Given the description of an element on the screen output the (x, y) to click on. 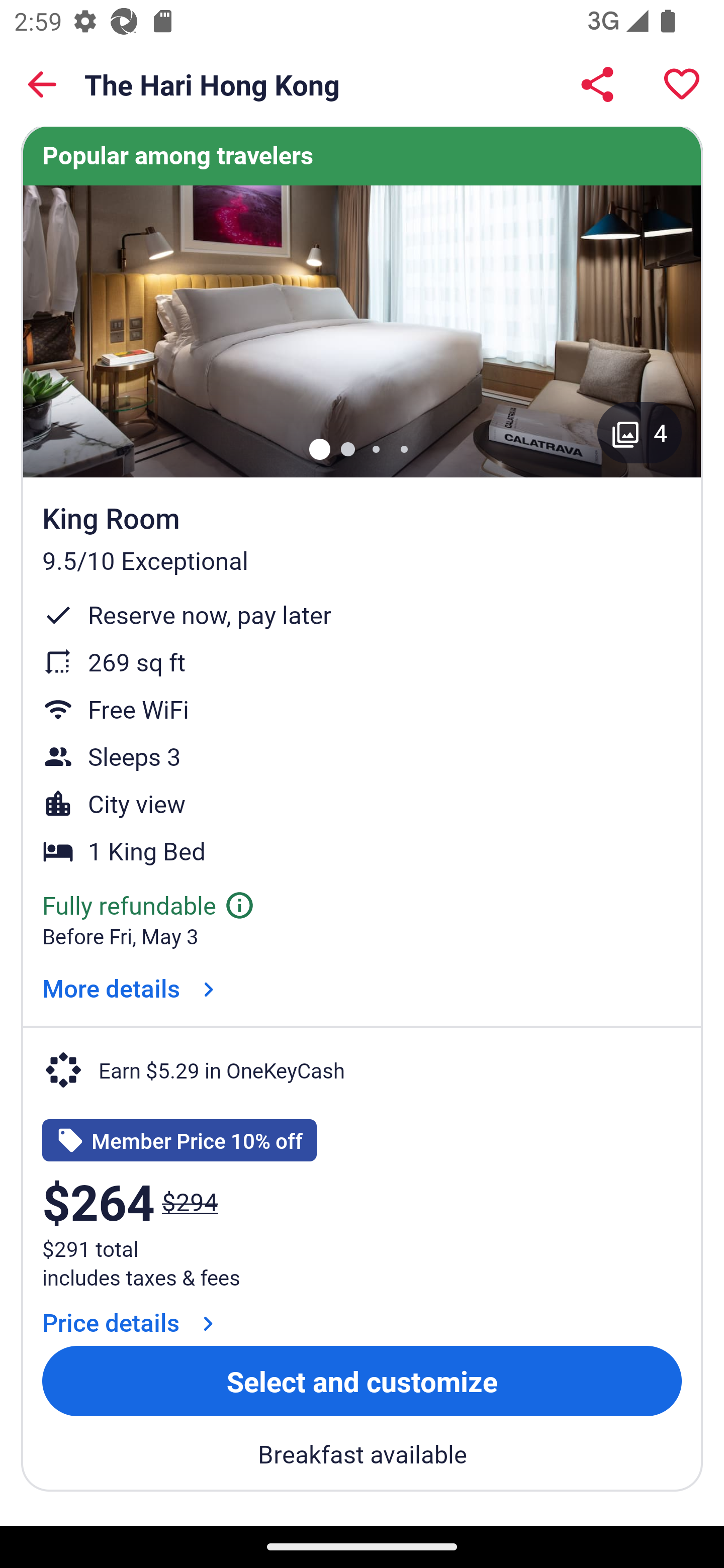
Back (42, 84)
Save property to a trip (681, 84)
Share The Hari Hong Kong (597, 84)
Gallery button with 4 images (639, 432)
Fully refundable (148, 904)
$294 The price was $294 (189, 1200)
